Given the description of an element on the screen output the (x, y) to click on. 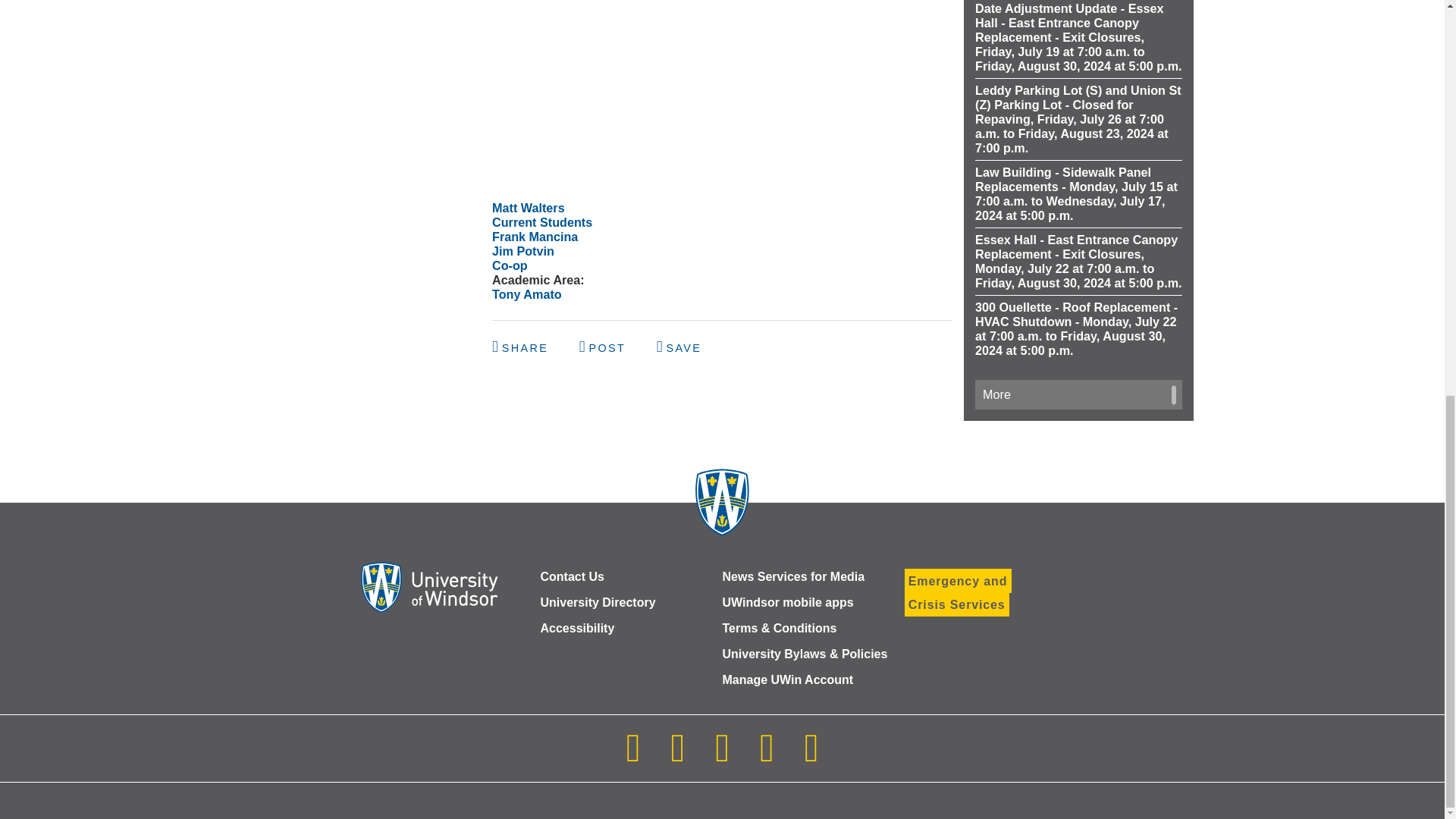
Share us on Facebook (521, 346)
View this feed's recent news. (1078, 394)
Share us on Pinterest (678, 346)
Follow on Youtube (766, 757)
Follow on LinkedIn (721, 757)
Follow on Facebook (677, 757)
